Given the description of an element on the screen output the (x, y) to click on. 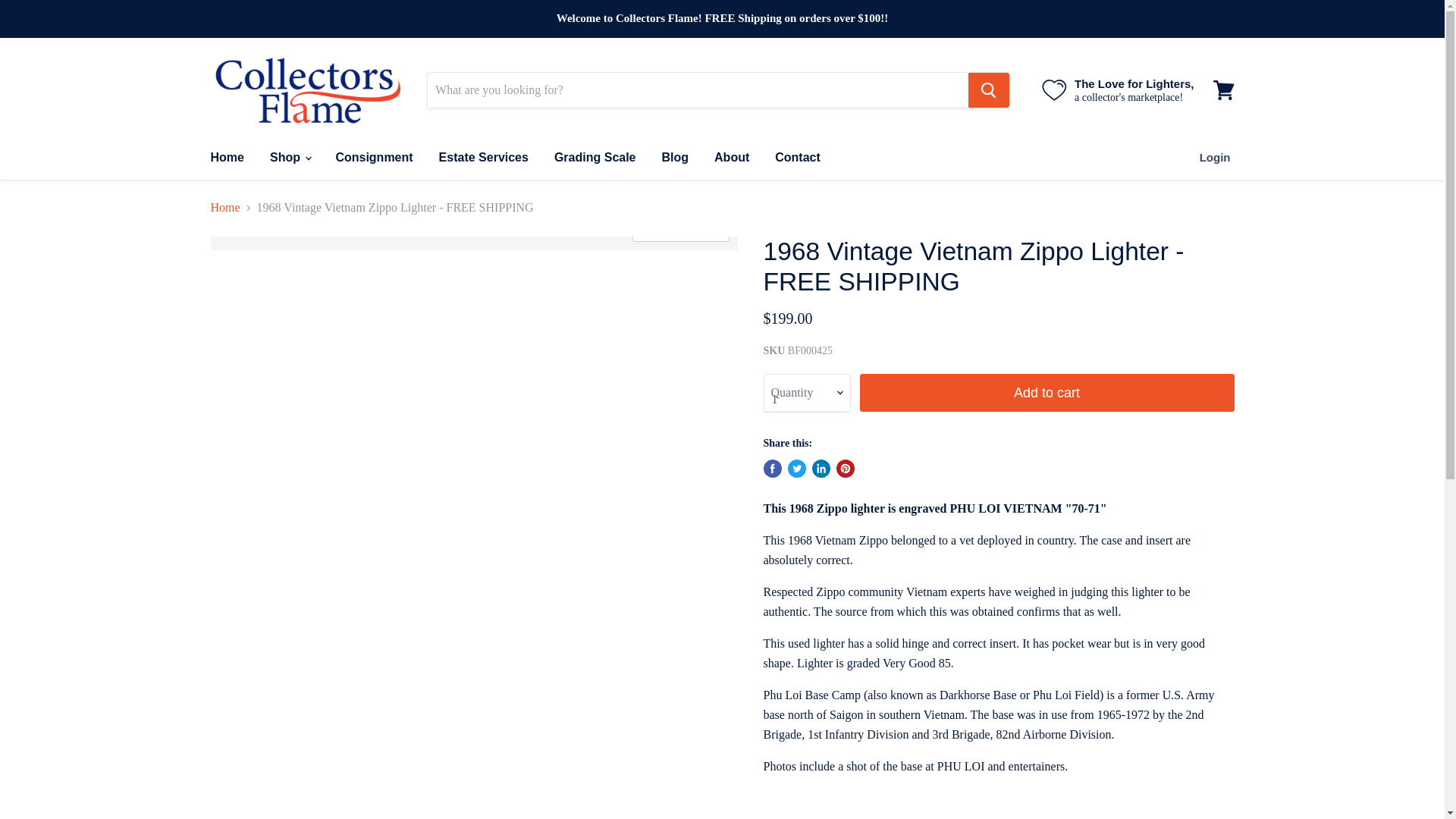
About (731, 157)
Consignment (373, 157)
Estate Services (484, 157)
Home (226, 157)
Blog (675, 157)
View cart (1223, 89)
Login (1215, 157)
Grading Scale (595, 157)
Shop (289, 157)
Contact (796, 157)
